Given the description of an element on the screen output the (x, y) to click on. 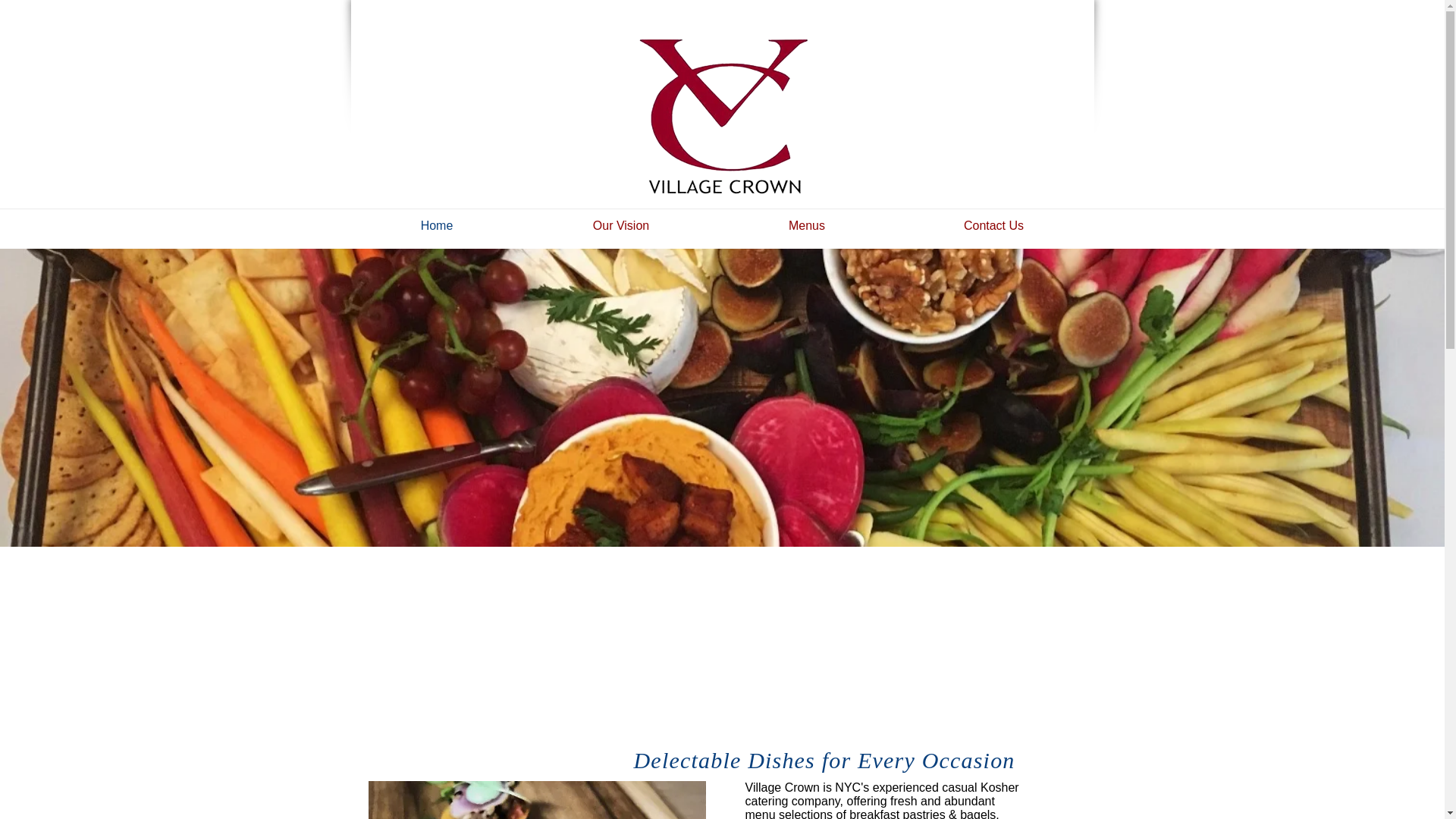
Home (436, 225)
Our Vision (620, 225)
Contact Us (994, 225)
